Given the description of an element on the screen output the (x, y) to click on. 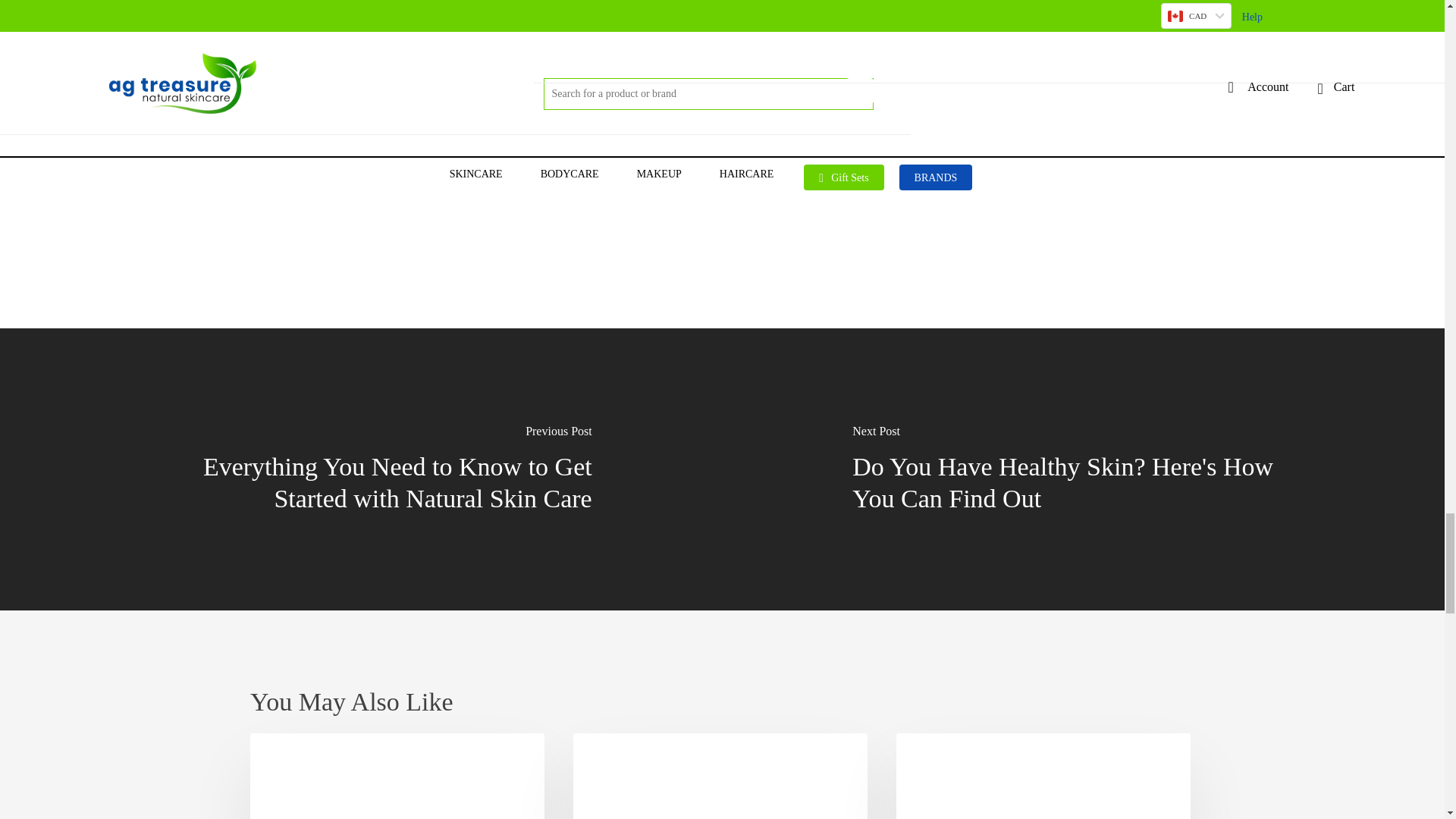
Tweet this (590, 181)
Share this (683, 181)
Love this (393, 180)
Pin this (771, 181)
Share this (494, 181)
